Given the description of an element on the screen output the (x, y) to click on. 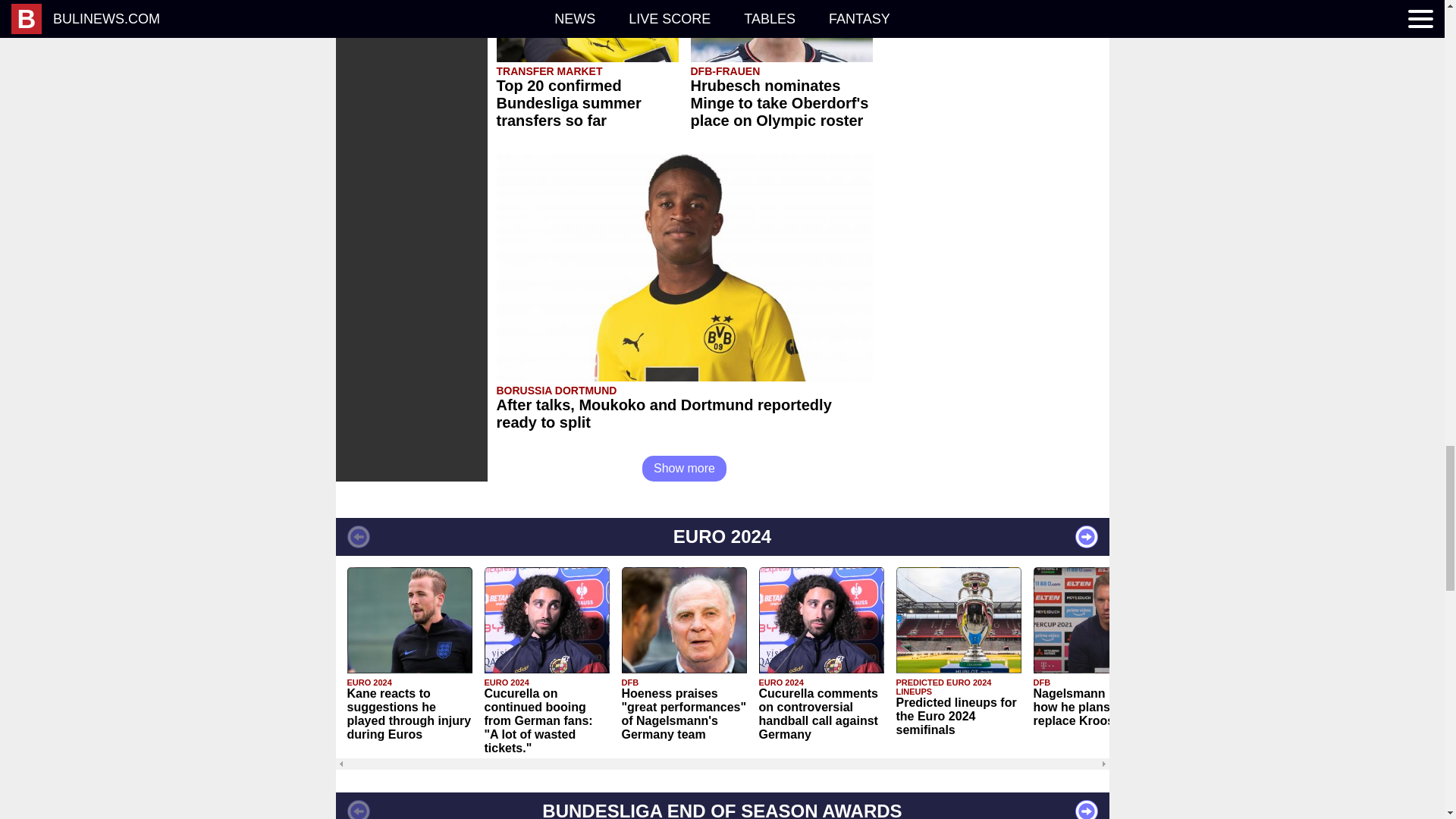
EURO 2024 (721, 536)
BUNDESLIGA END OF SEASON AWARDS (721, 805)
